Given the description of an element on the screen output the (x, y) to click on. 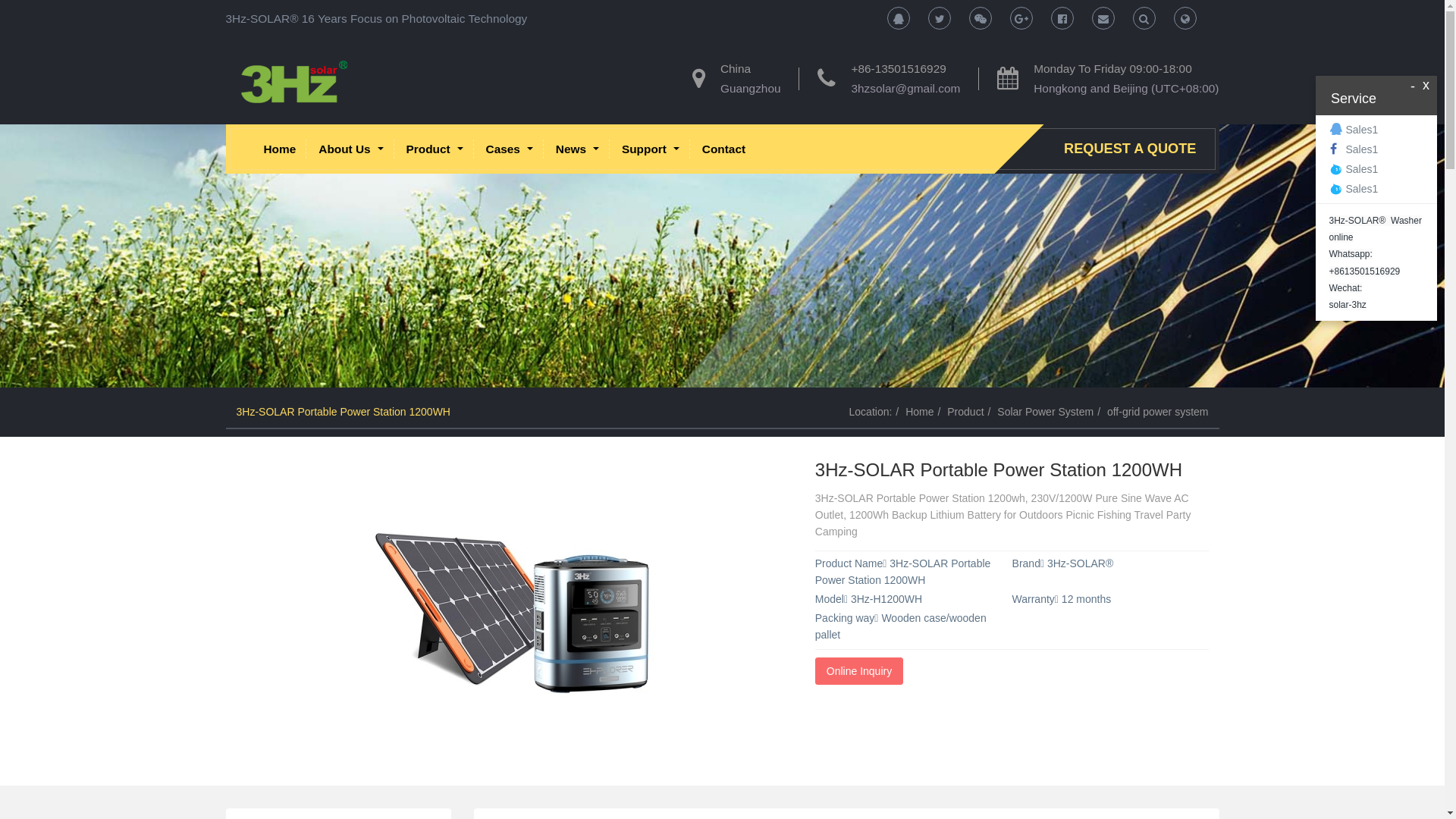
- Element type: text (1412, 86)
Contact Element type: text (723, 148)
Sales1 Element type: text (1376, 129)
Support Element type: text (650, 148)
Product Element type: text (434, 148)
Solar Power System Element type: text (1045, 410)
Home Element type: text (279, 148)
Sales1 Element type: text (1376, 169)
Online Inquiry Element type: text (859, 670)
Product Element type: text (965, 410)
off-grid power system Element type: text (1157, 410)
REQUEST A QUOTE Element type: text (1134, 148)
Toggle Search Element type: text (1184, 17)
Location: Element type: text (870, 410)
x Element type: text (1425, 84)
+86-13501516929 Element type: text (897, 68)
News Element type: text (577, 148)
Toggle Search Element type: text (1143, 17)
Sales1 Element type: text (1376, 188)
About Us Element type: text (350, 148)
Sales1 Element type: text (1376, 149)
3hzsolar@gmail.com Element type: text (905, 87)
Home Element type: text (919, 410)
Cases Element type: text (509, 148)
